Given the description of an element on the screen output the (x, y) to click on. 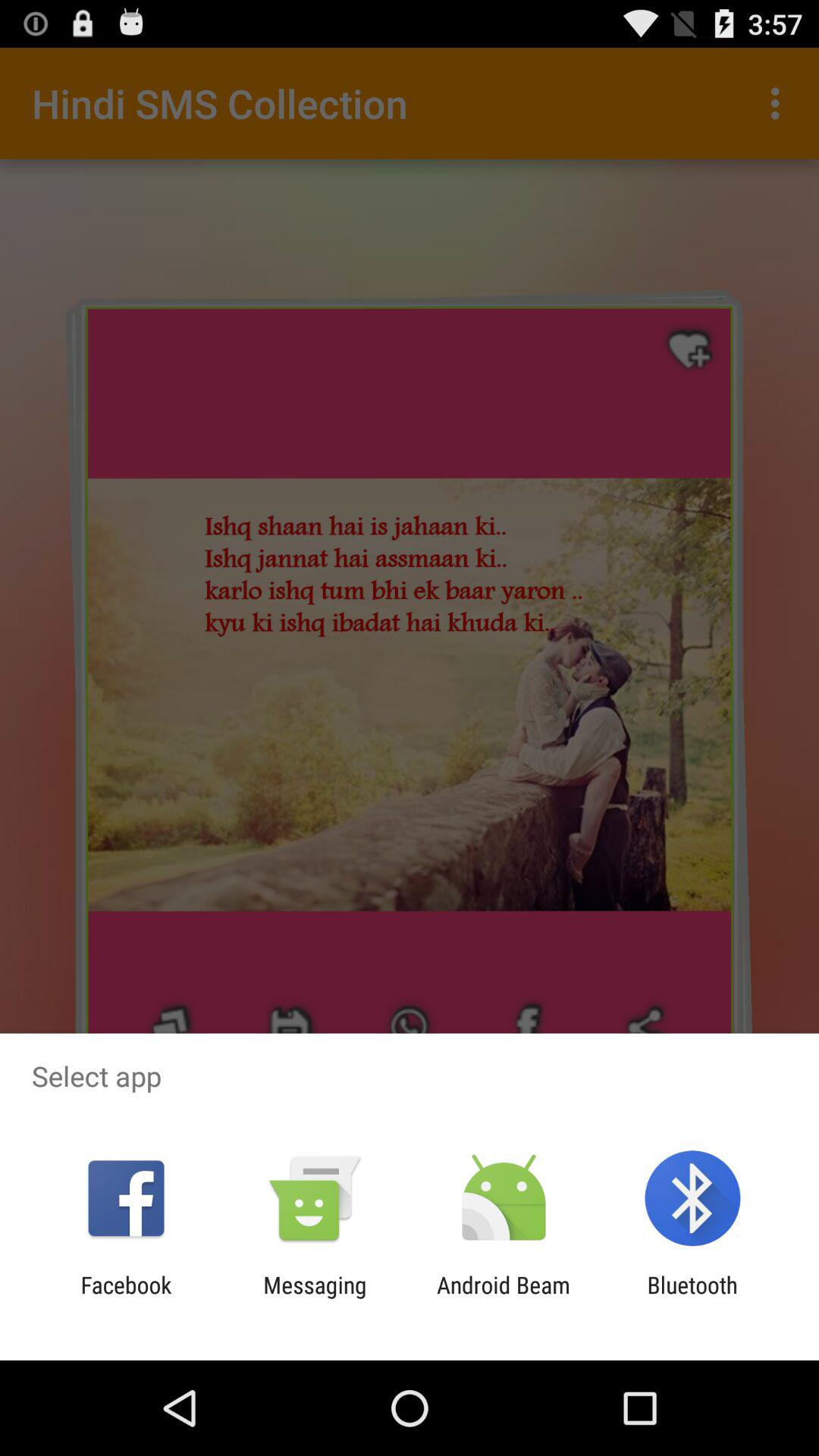
select item next to android beam app (692, 1298)
